Given the description of an element on the screen output the (x, y) to click on. 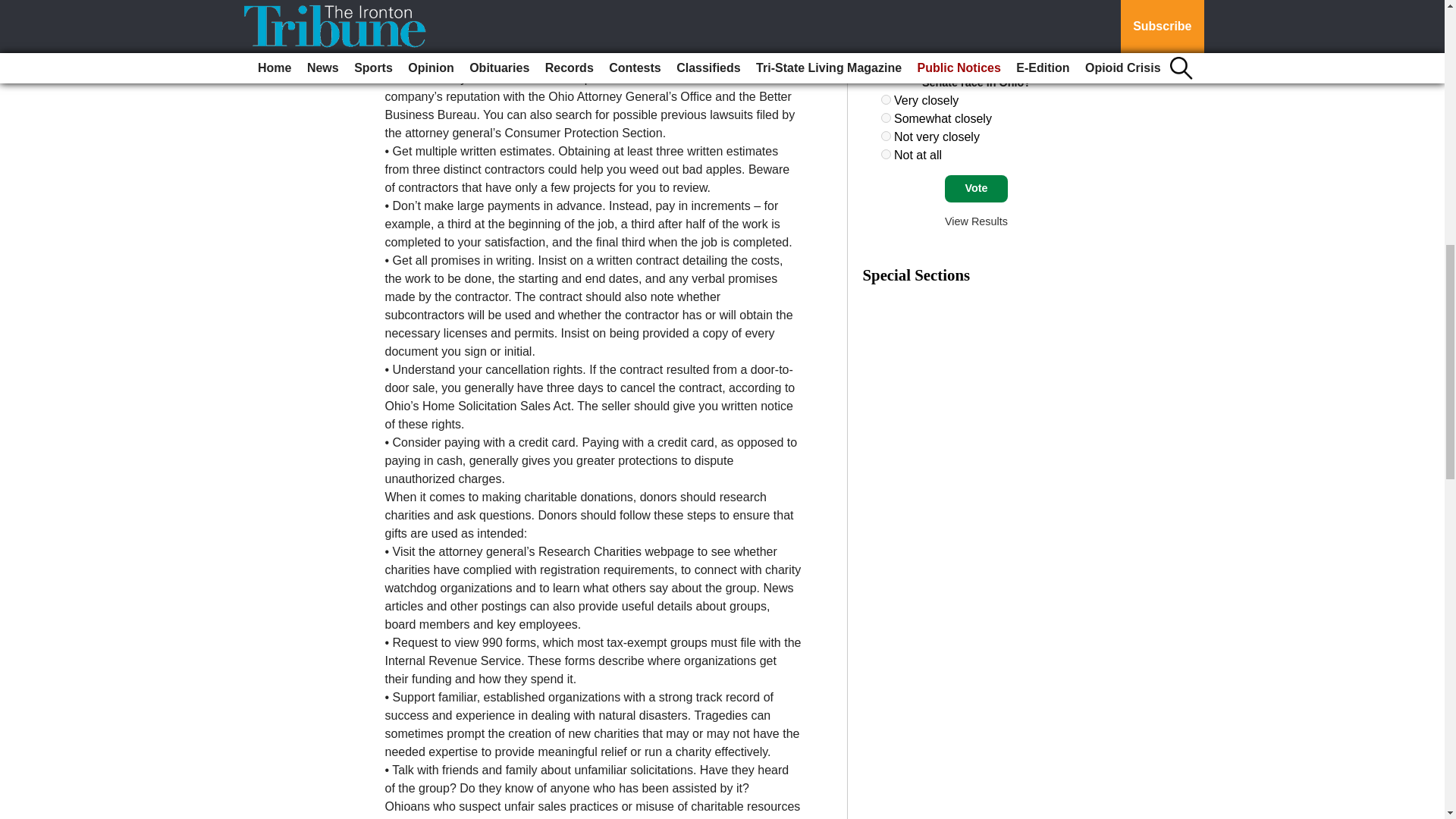
View Results (975, 221)
   Vote    (975, 188)
View Results Of This Poll (975, 221)
1434 (885, 135)
1435 (885, 153)
1433 (885, 117)
1432 (885, 99)
